Given the description of an element on the screen output the (x, y) to click on. 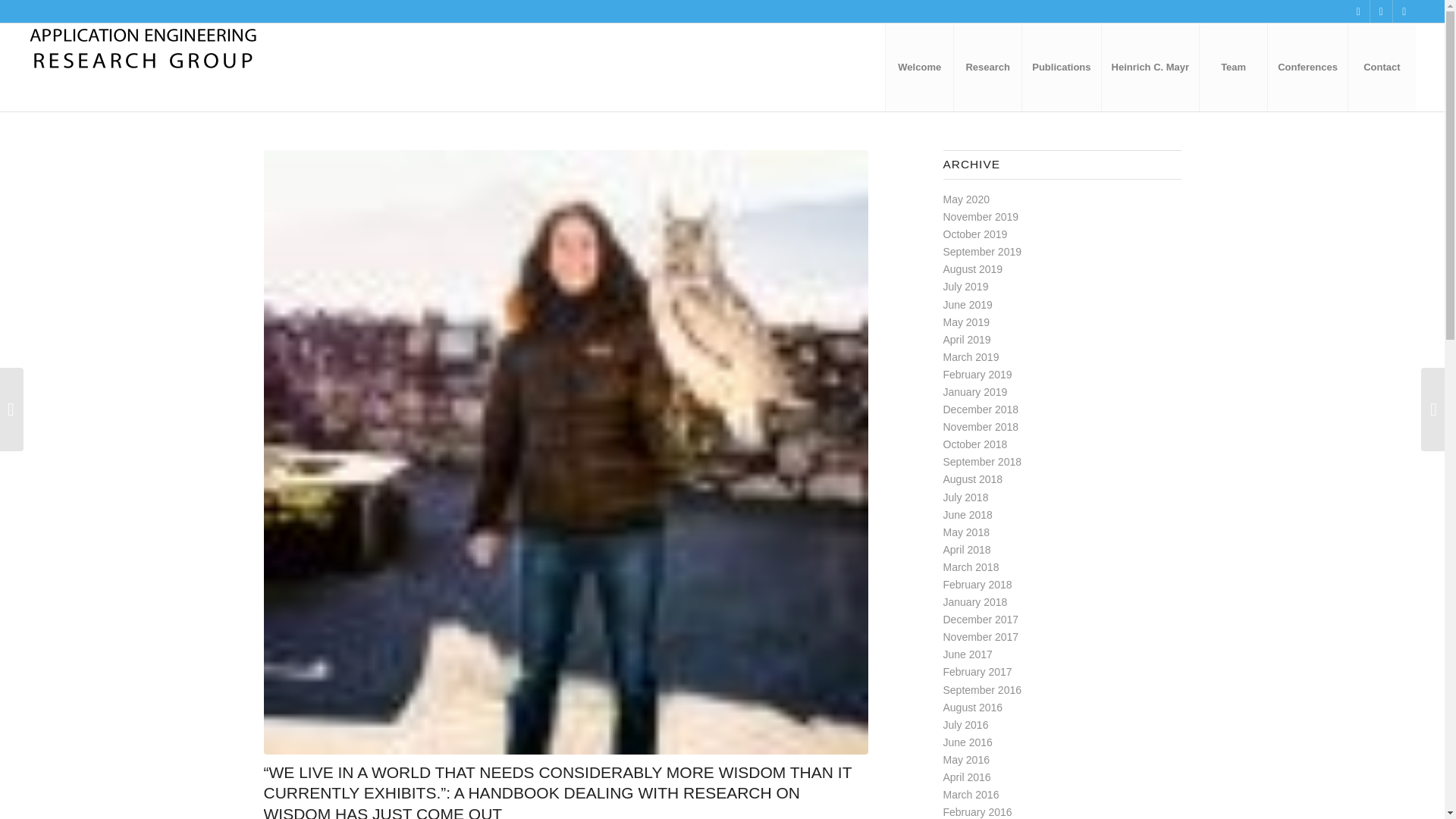
Publications (1061, 67)
Conferences (1307, 67)
Rss (1359, 11)
Facebook (1404, 11)
Youtube (1380, 11)
Heinrich C. Mayr (1149, 67)
